Given the description of an element on the screen output the (x, y) to click on. 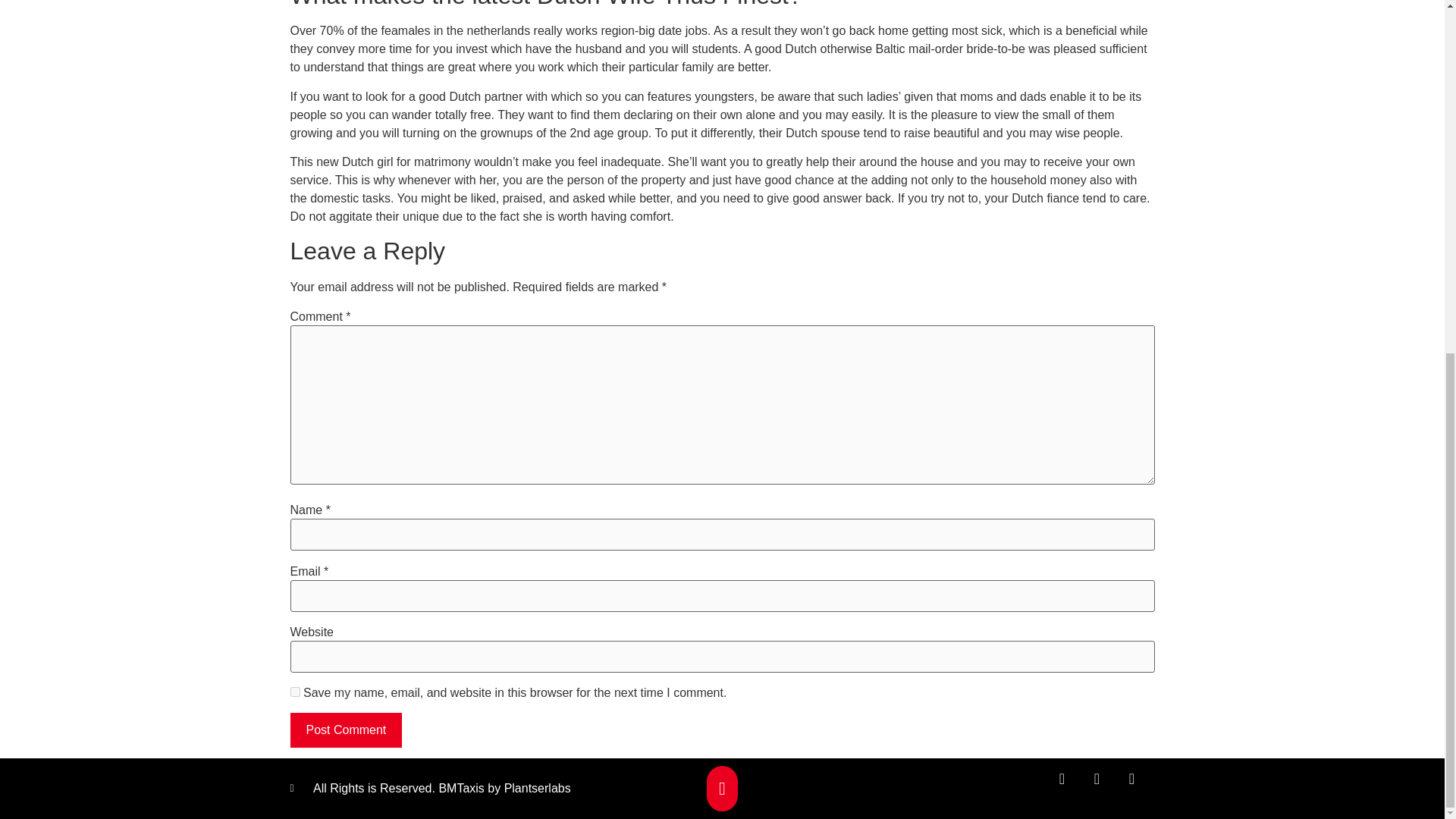
Post Comment (345, 729)
yes (294, 691)
Post Comment (345, 729)
